Given the description of an element on the screen output the (x, y) to click on. 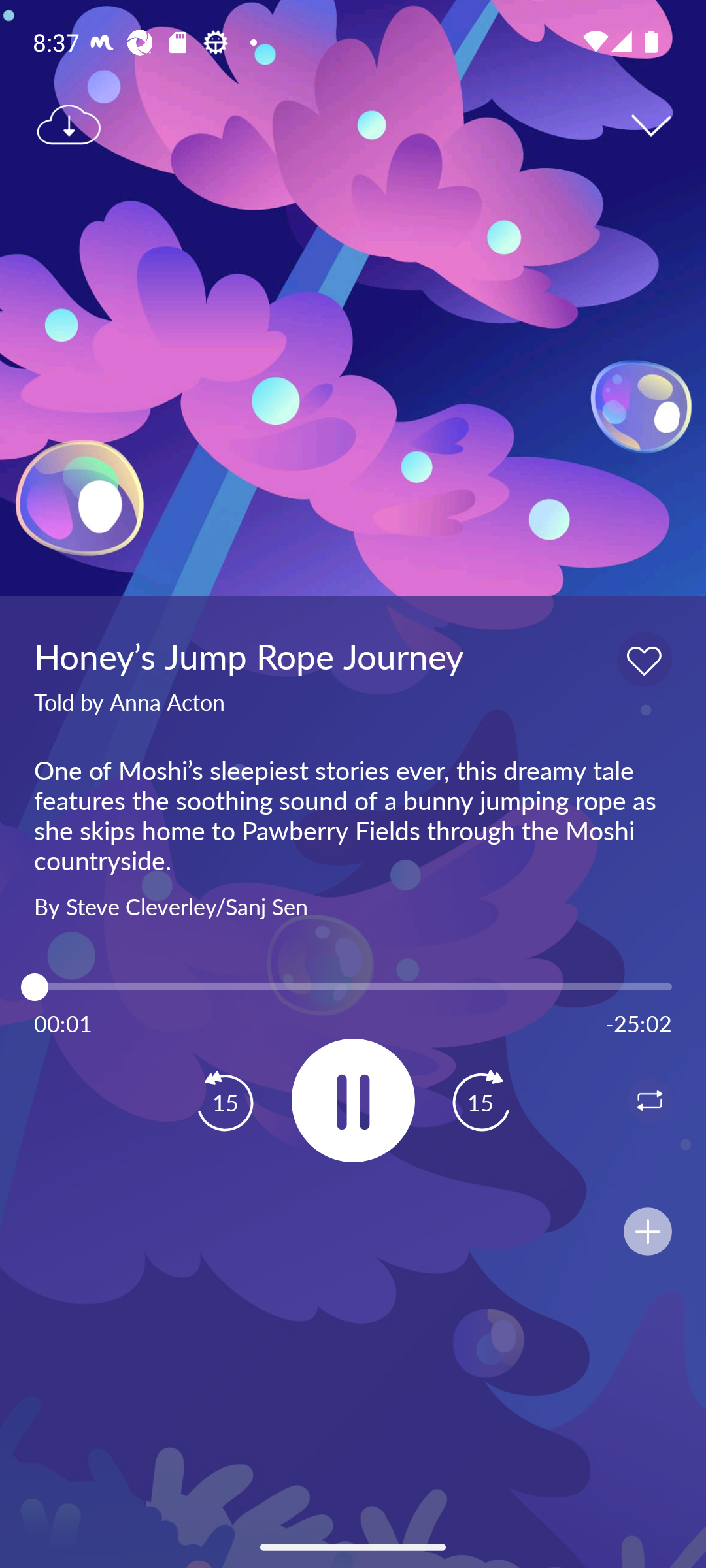
1.0 (352, 986)
Cast. Disconnected (76, 1100)
